Given the description of an element on the screen output the (x, y) to click on. 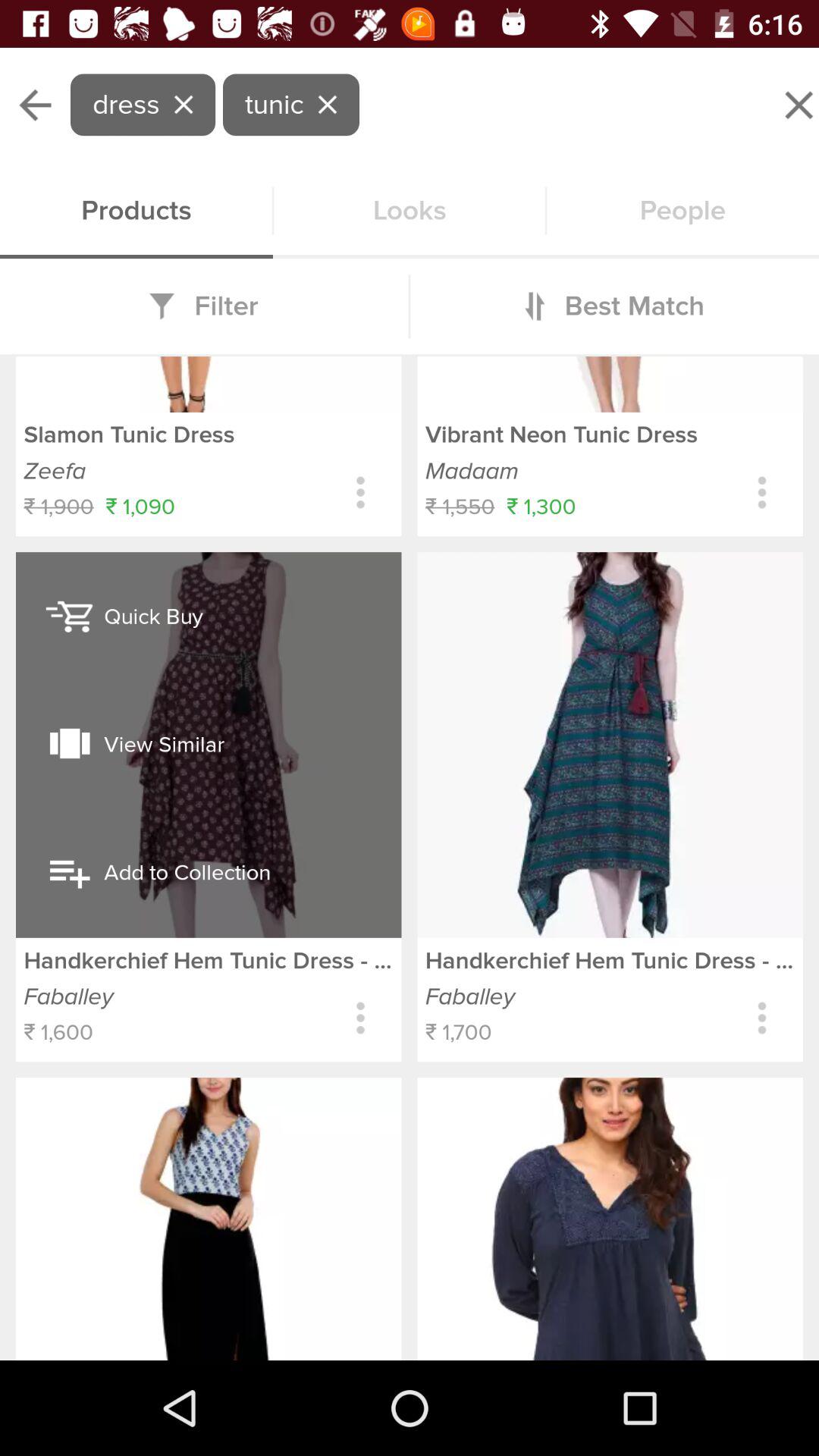
view detail (762, 1017)
